Given the description of an element on the screen output the (x, y) to click on. 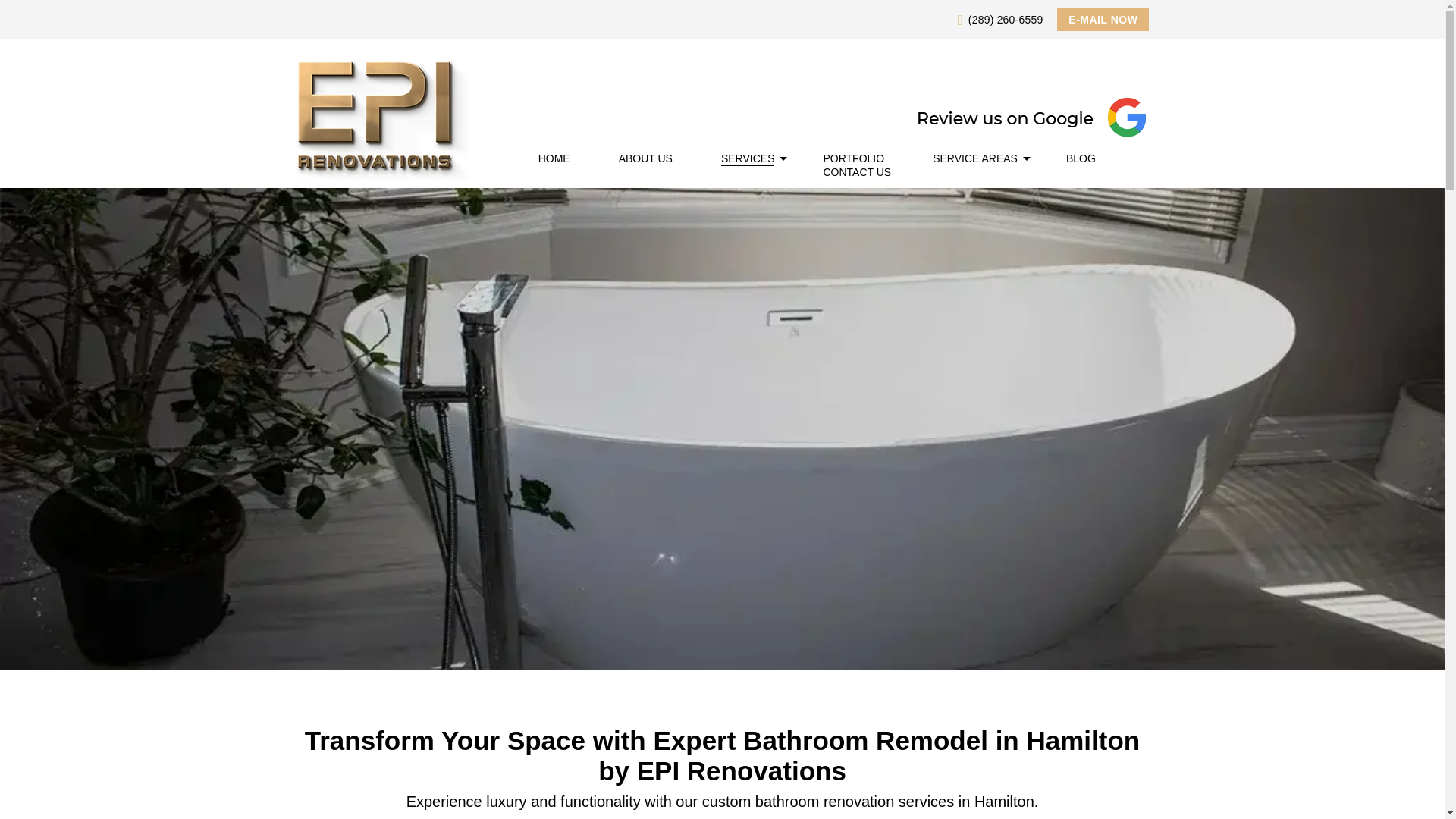
HOME (554, 158)
BLOG (1080, 158)
PORTFOLIO (852, 158)
SERVICES (747, 158)
SERVICE AREAS (975, 158)
ABOUT US (645, 158)
CONTACT US (856, 172)
E-MAIL NOW (1102, 19)
